Given the description of an element on the screen output the (x, y) to click on. 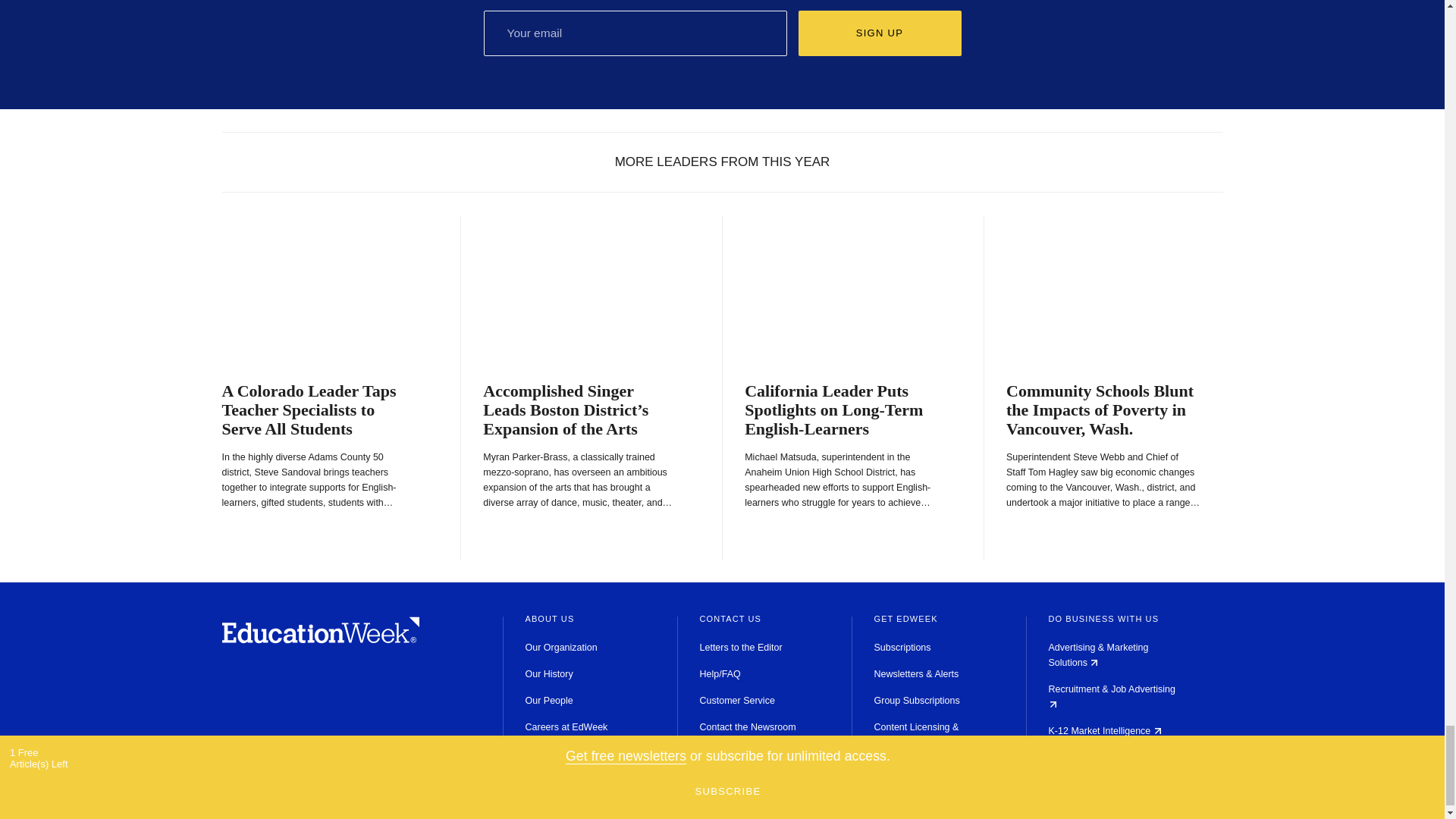
Homepage (320, 639)
